Given the description of an element on the screen output the (x, y) to click on. 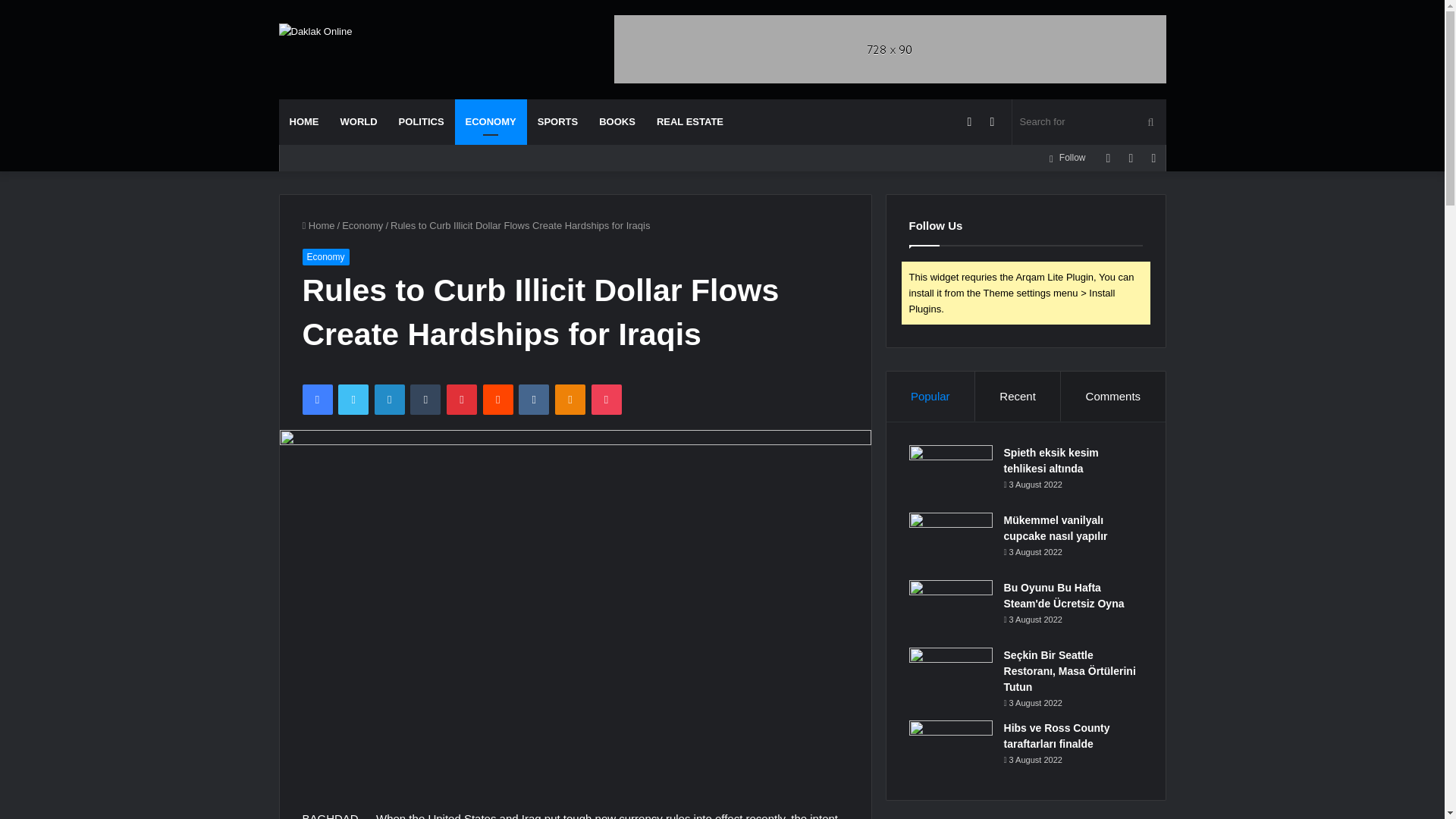
SPORTS (557, 121)
Twitter (352, 399)
Facebook (316, 399)
HOME (304, 121)
Economy (362, 225)
Twitter (352, 399)
Search for (1088, 121)
Reddit (498, 399)
BOOKS (617, 121)
Follow (1067, 157)
